Given the description of an element on the screen output the (x, y) to click on. 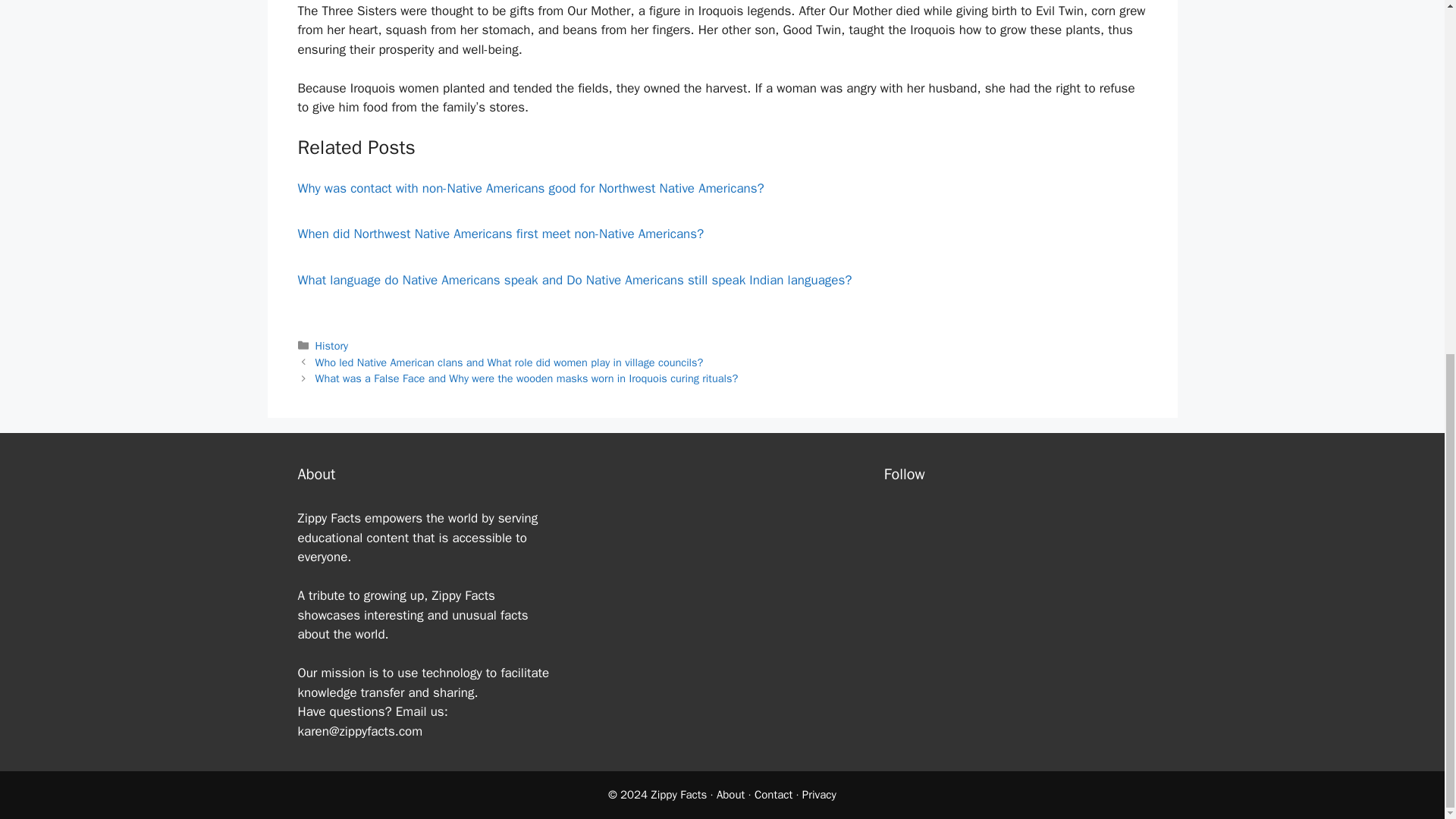
History (332, 345)
